Given the description of an element on the screen output the (x, y) to click on. 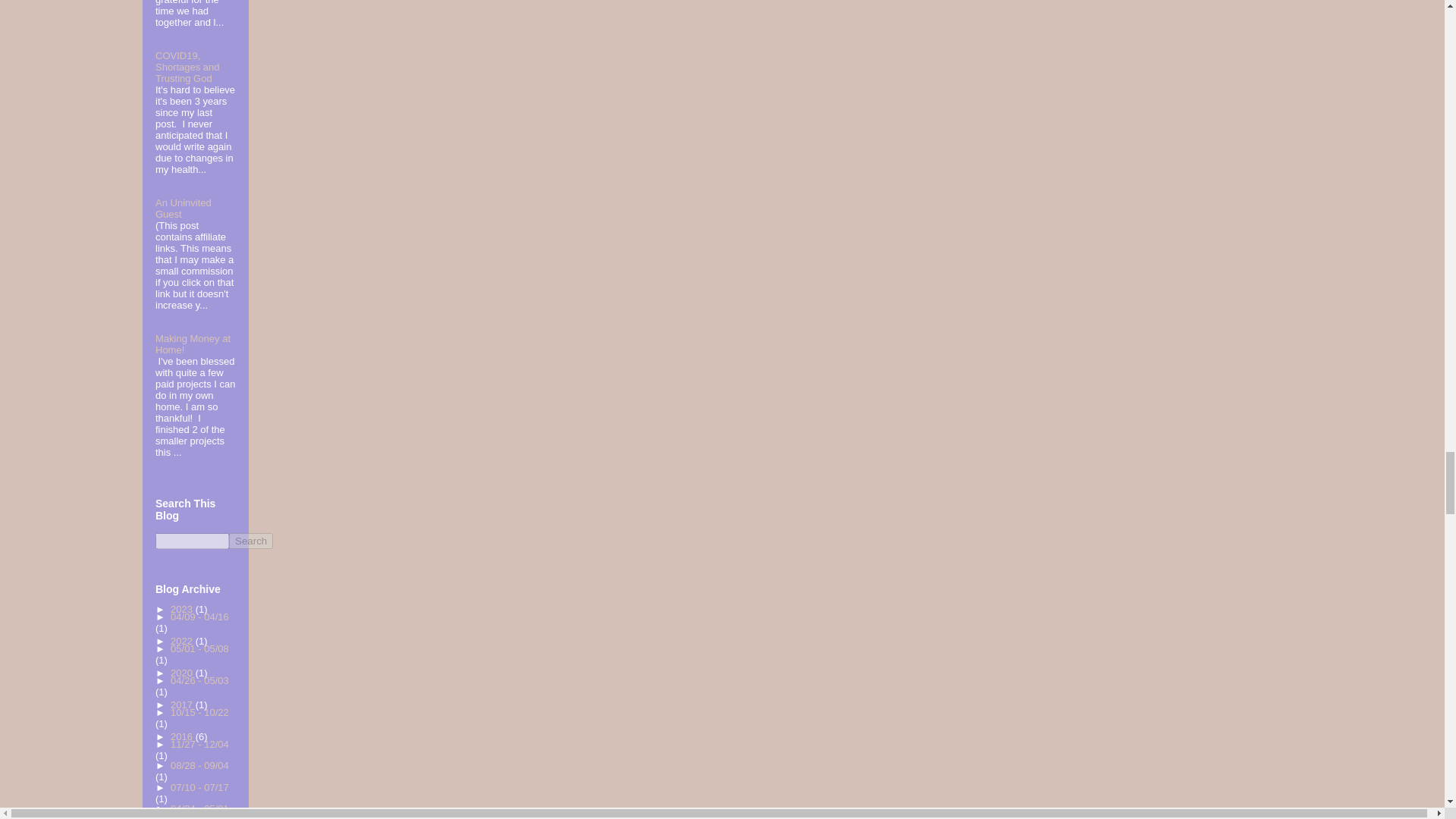
Search (250, 540)
search (250, 540)
Search (250, 540)
search (191, 540)
